Given the description of an element on the screen output the (x, y) to click on. 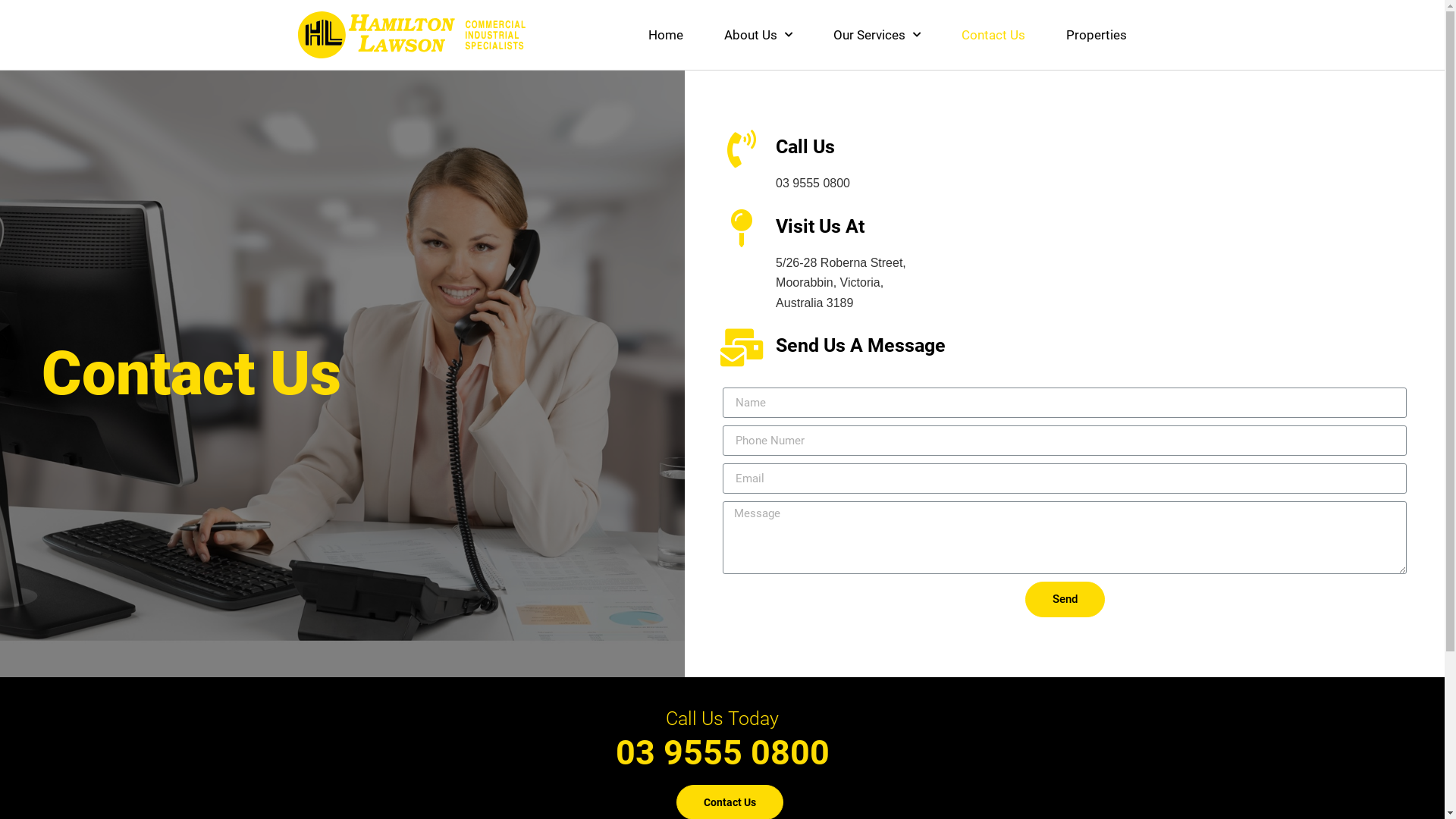
Call Us Element type: text (804, 146)
Properties Element type: text (1095, 34)
About Us Element type: text (757, 34)
Send Element type: text (1064, 599)
Home Element type: text (665, 34)
Our Services Element type: text (876, 34)
Contact Us Element type: text (992, 34)
